Given the description of an element on the screen output the (x, y) to click on. 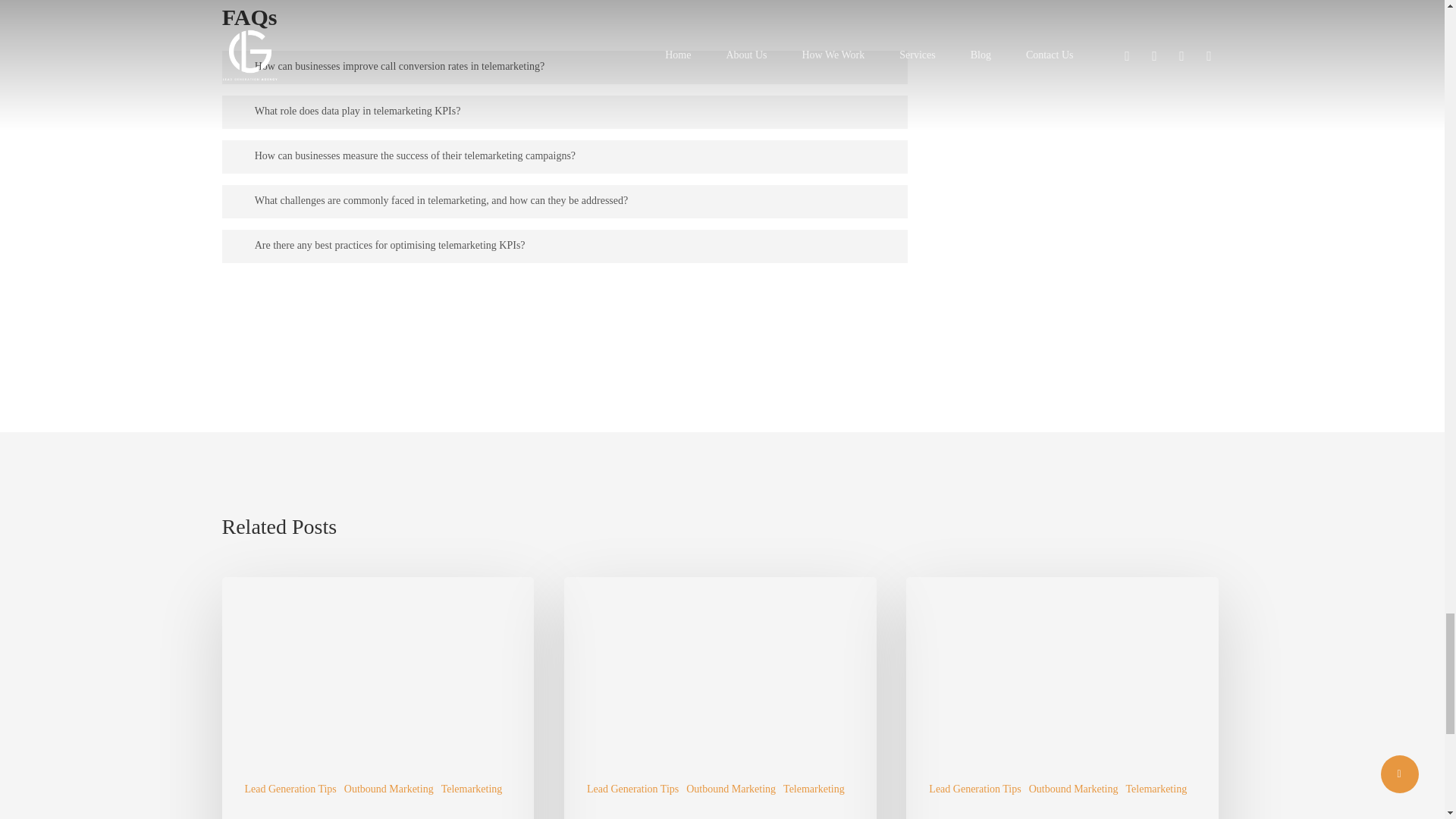
Lead Generation Tips (290, 789)
Outbound Marketing (388, 789)
What role does data play in telemarketing KPIs? (564, 111)
Telemarketing (471, 789)
